Given the description of an element on the screen output the (x, y) to click on. 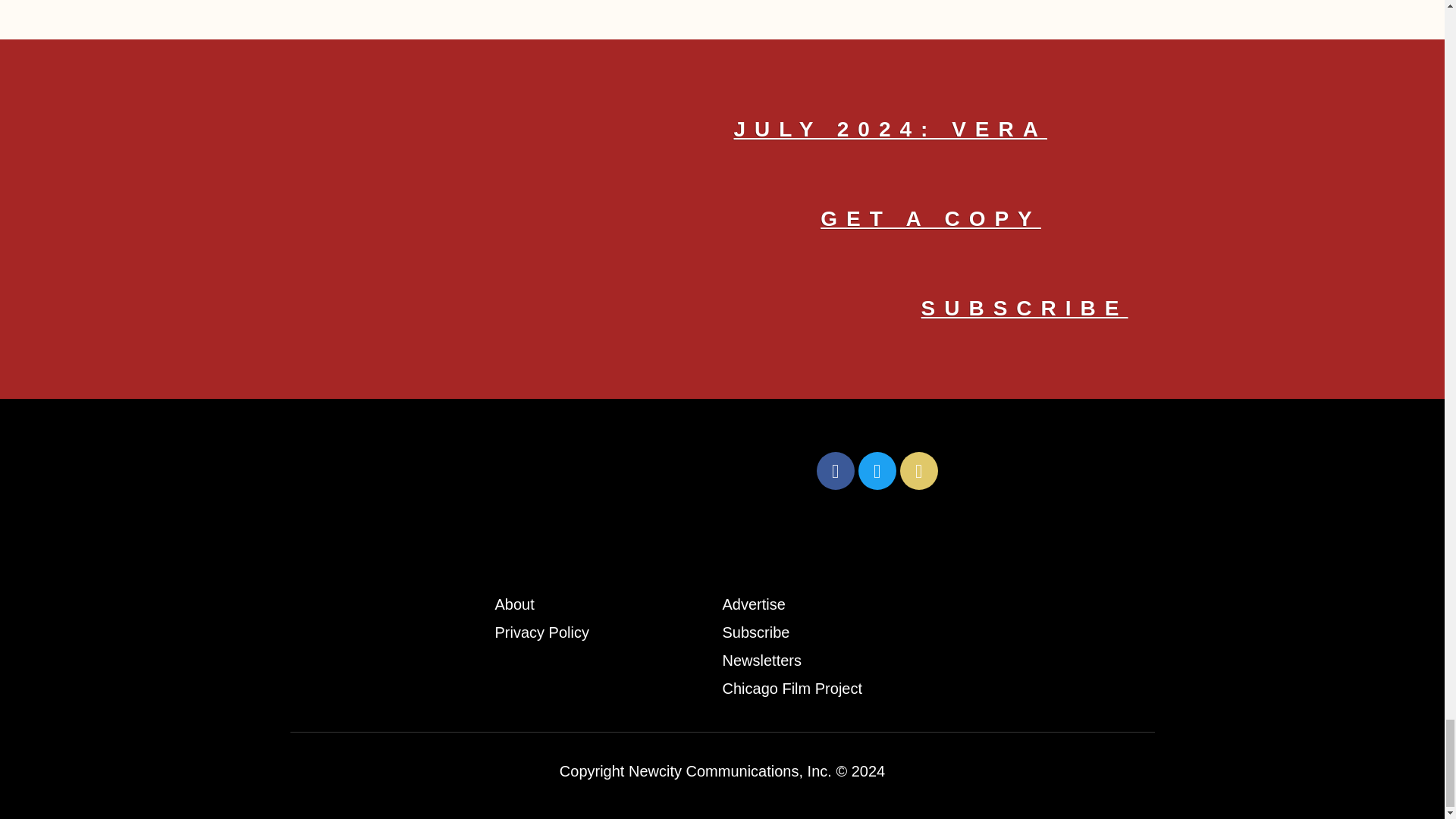
NewcityLogo.png (548, 470)
